Given the description of an element on the screen output the (x, y) to click on. 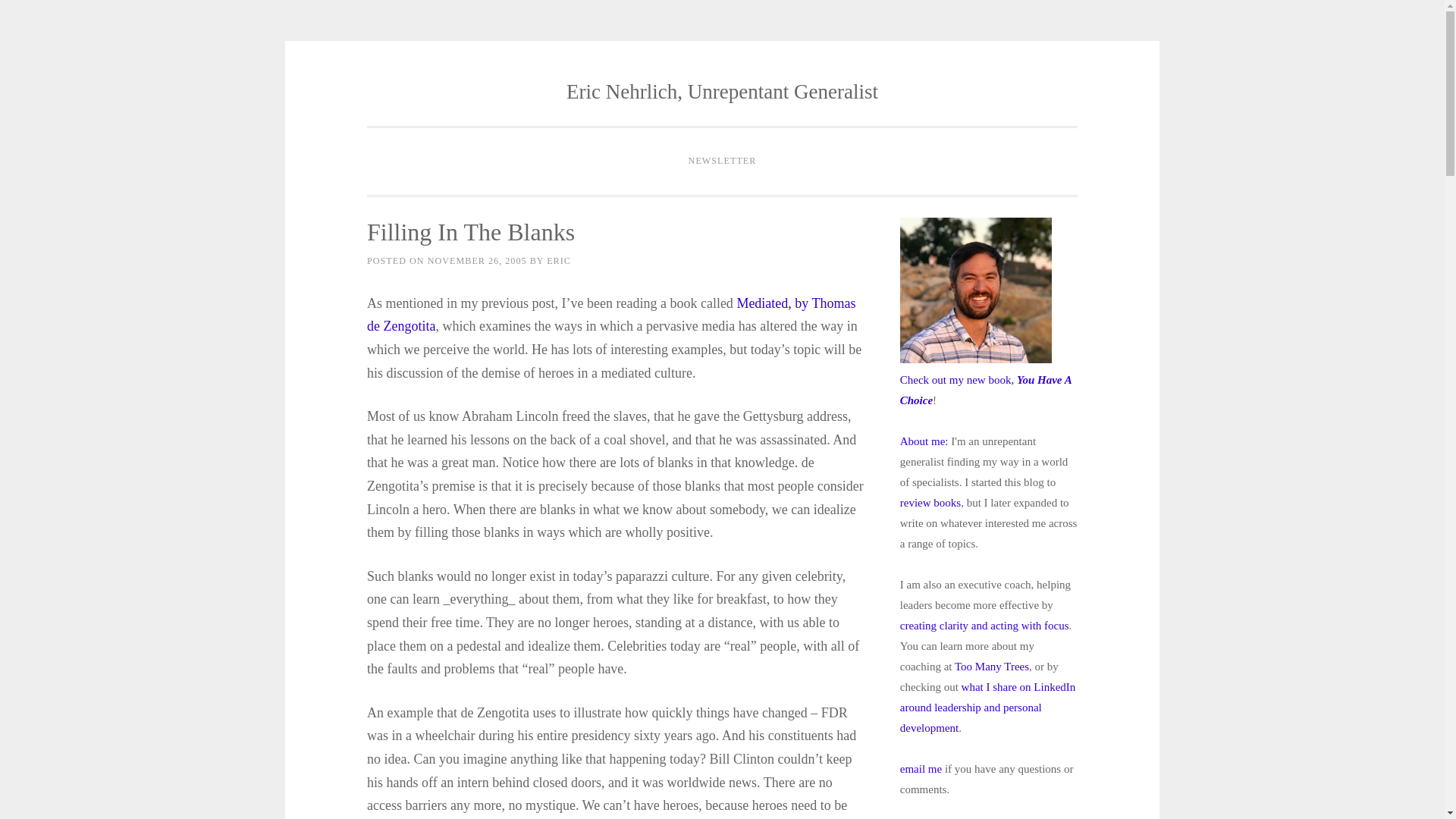
Eric Nehrlich, Unrepentant Generalist (721, 91)
email me (920, 768)
Too Many Trees (992, 666)
NEWSLETTER (721, 161)
NOVEMBER 26, 2005 (477, 260)
ERIC (558, 260)
Check out my new book, You Have A Choice (985, 389)
About me: (924, 440)
